Given the description of an element on the screen output the (x, y) to click on. 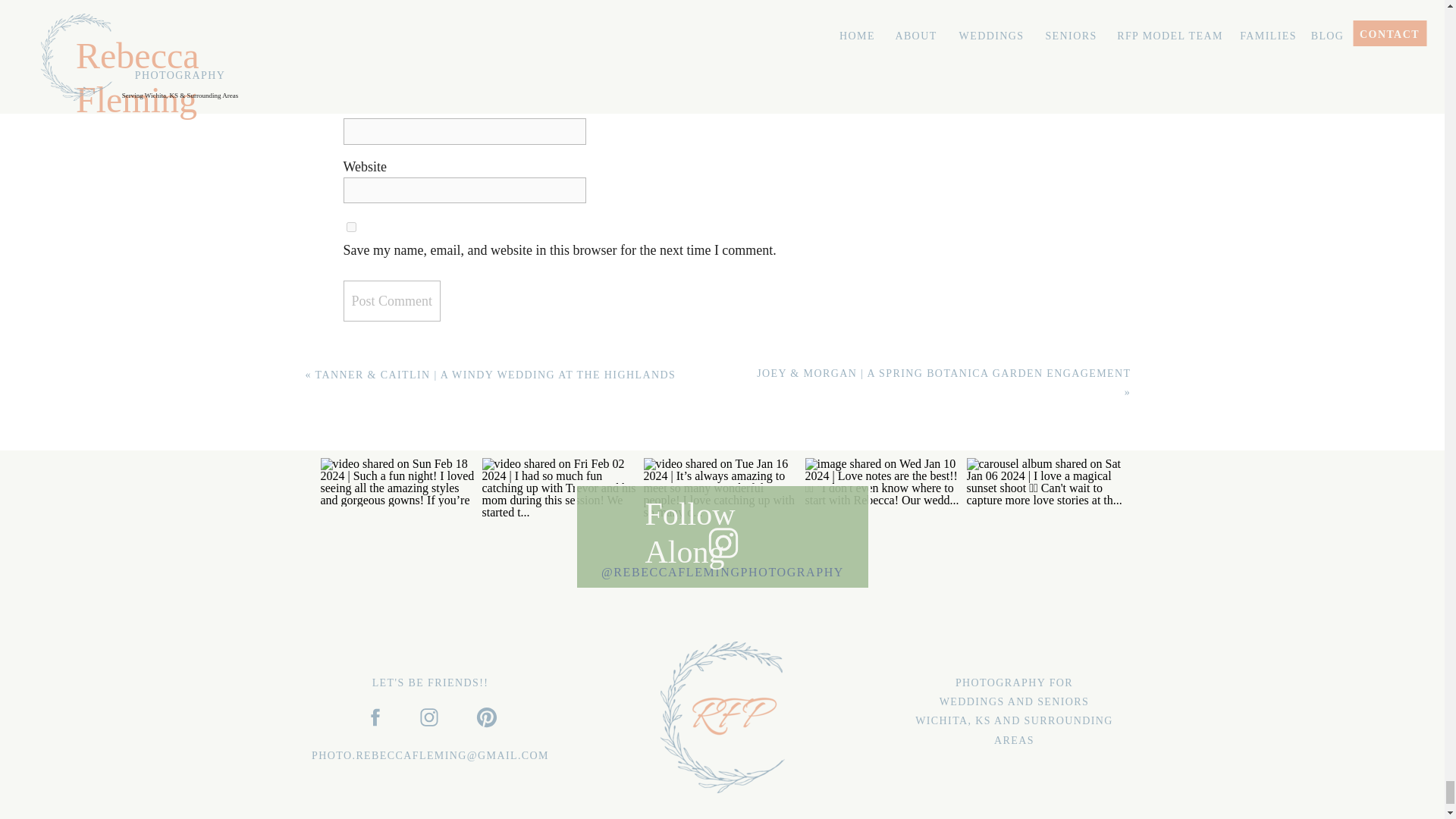
Post Comment (391, 300)
yes (350, 226)
Post Comment (391, 300)
